Given the description of an element on the screen output the (x, y) to click on. 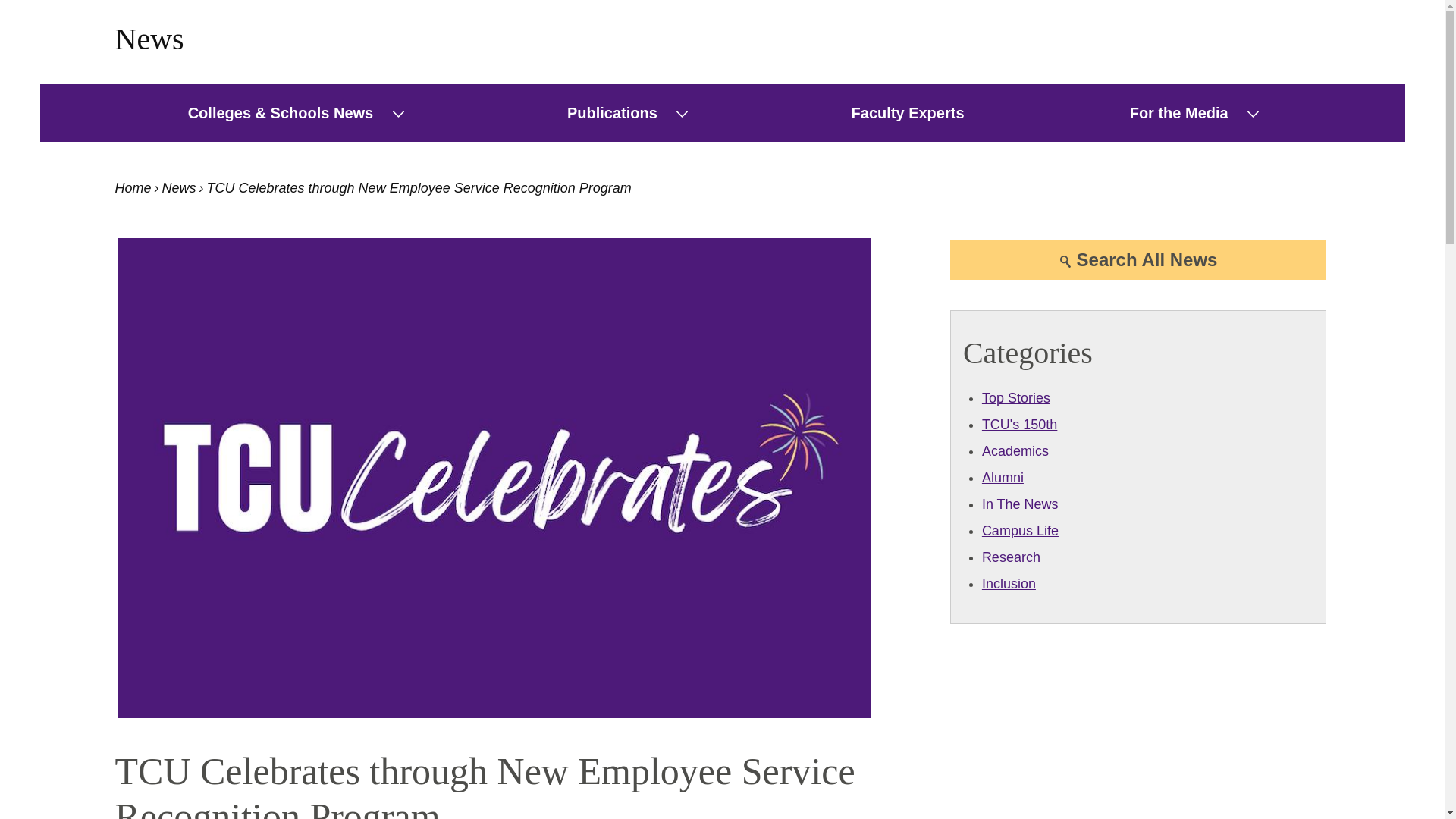
Top Stories (1015, 397)
For the Media (1170, 112)
TCU's 150th (1019, 424)
Publications (604, 112)
Search All News (1138, 260)
News (178, 187)
Resources For the Media (1170, 112)
News (149, 39)
Home (133, 187)
Faculty Experts (907, 112)
Texas Christian University (133, 187)
